Given the description of an element on the screen output the (x, y) to click on. 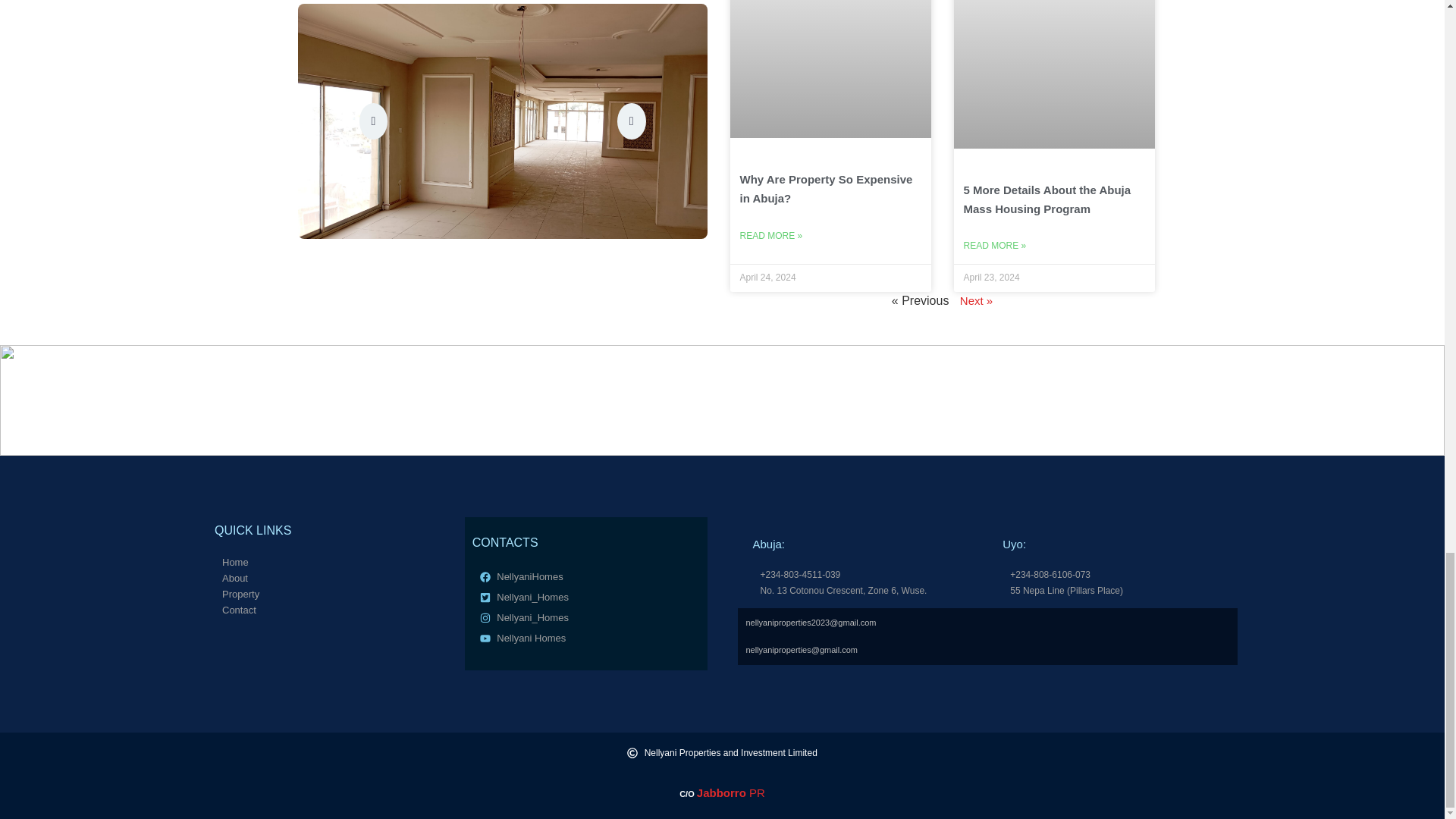
Home (327, 562)
About (327, 578)
5 More Details About the Abuja Mass Housing Program (1046, 199)
Why Are Property So Expensive in Abuja? (825, 188)
